Given the description of an element on the screen output the (x, y) to click on. 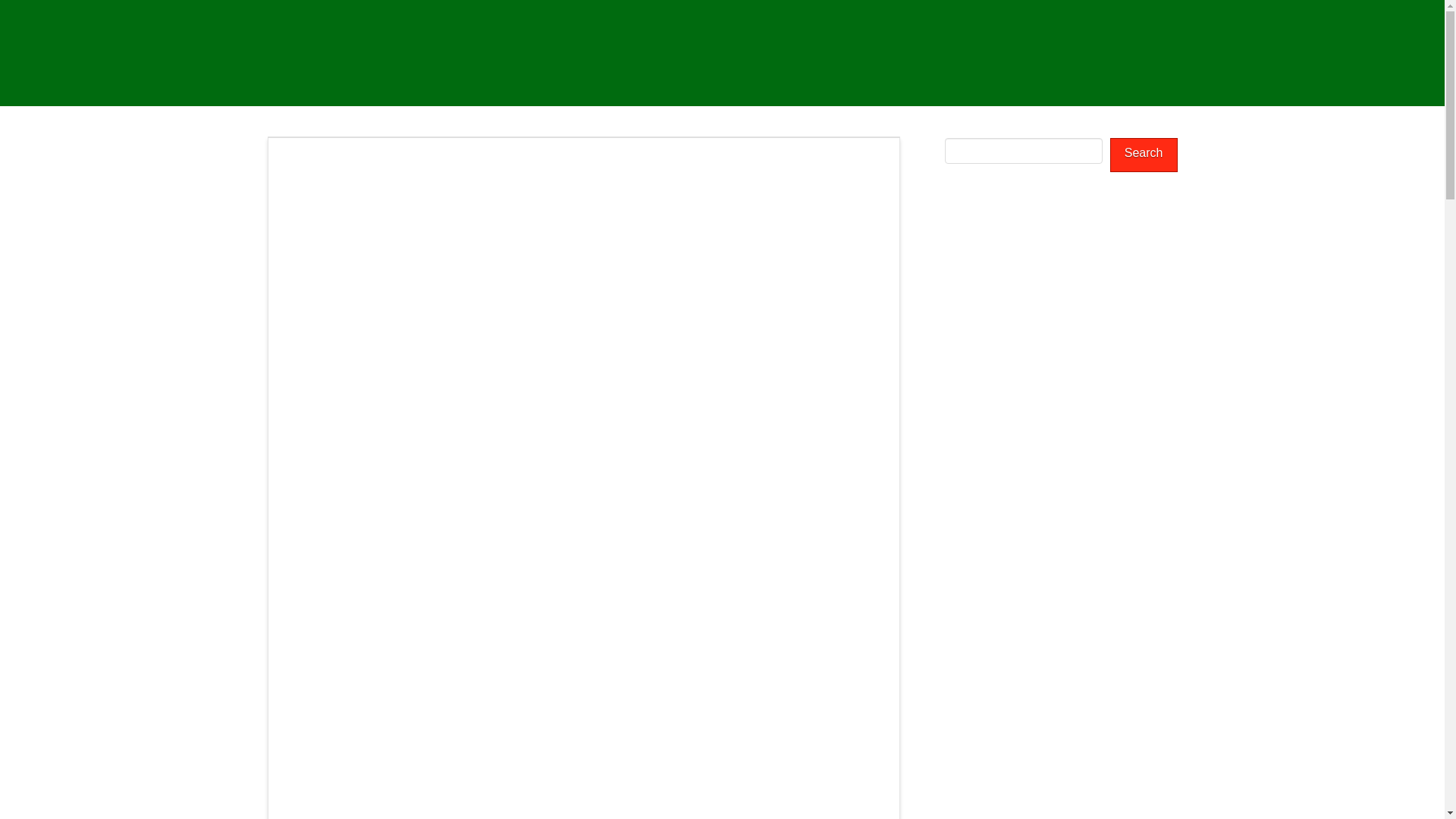
Search (1143, 154)
